Given the description of an element on the screen output the (x, y) to click on. 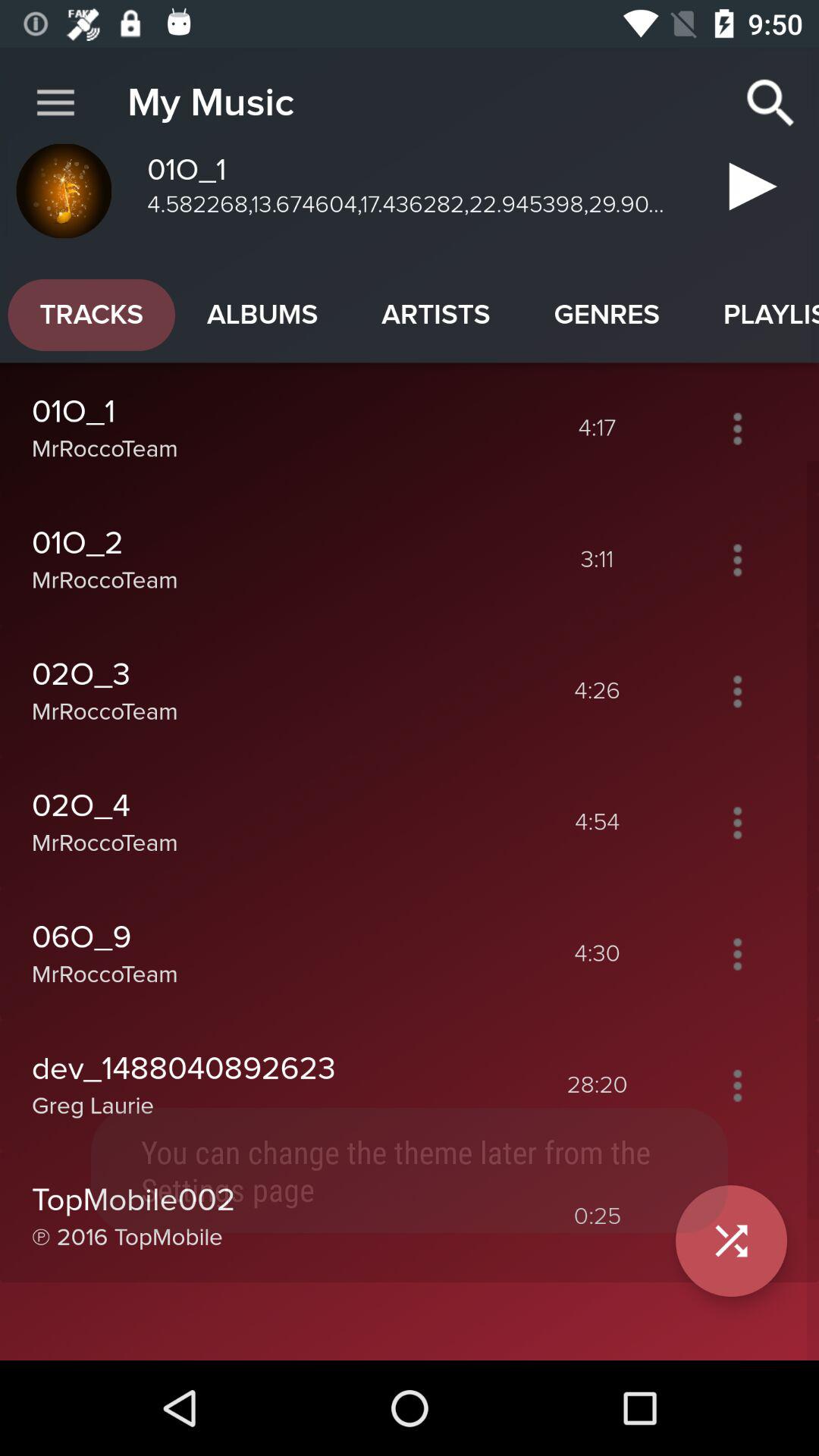
launch the app to the left of the albums (91, 314)
